Given the description of an element on the screen output the (x, y) to click on. 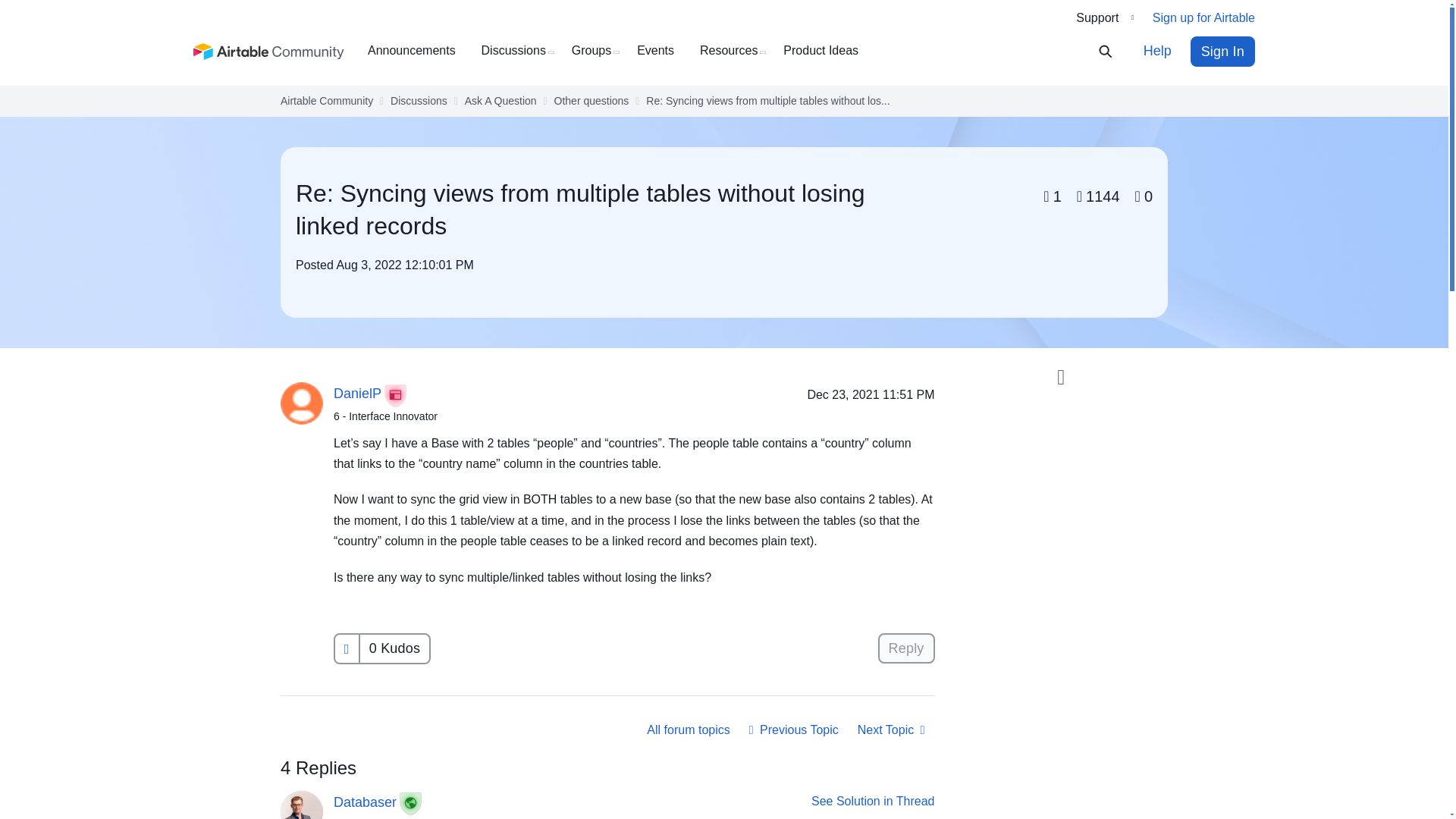
Other questions (591, 101)
Support (1104, 17)
Resources (734, 50)
Search (1114, 51)
Airtable Community (269, 51)
Help (1157, 50)
Ask A Question (500, 101)
Discussions (418, 101)
Announcements (417, 50)
Sign In (1223, 51)
